Given the description of an element on the screen output the (x, y) to click on. 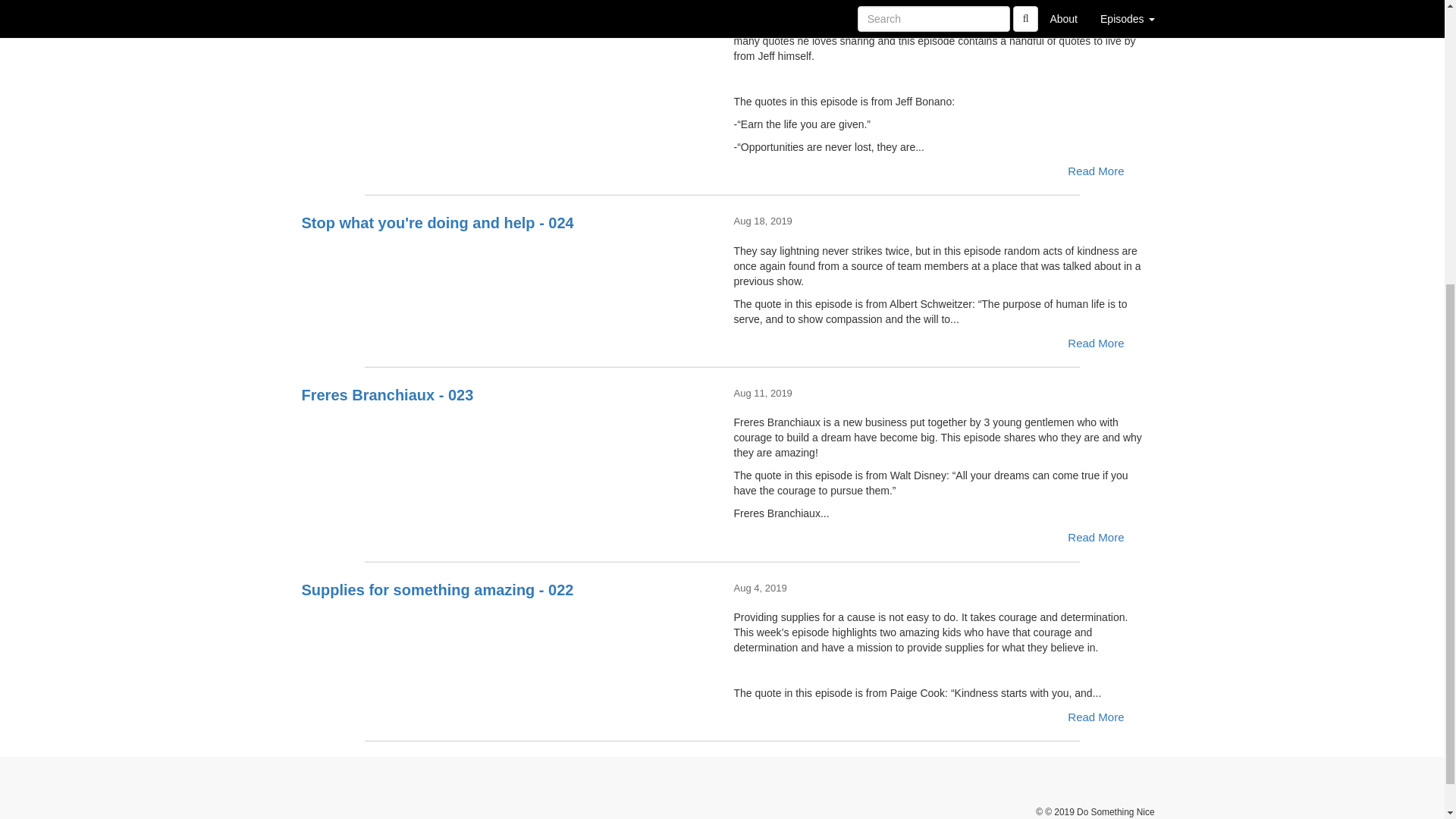
Supplies for something amazing - 022 (506, 635)
Stop what you're doing and help - 024 (506, 269)
Freres Branchiaux - 023 (506, 441)
Quotes to live by - 025 (506, 44)
